Given the description of an element on the screen output the (x, y) to click on. 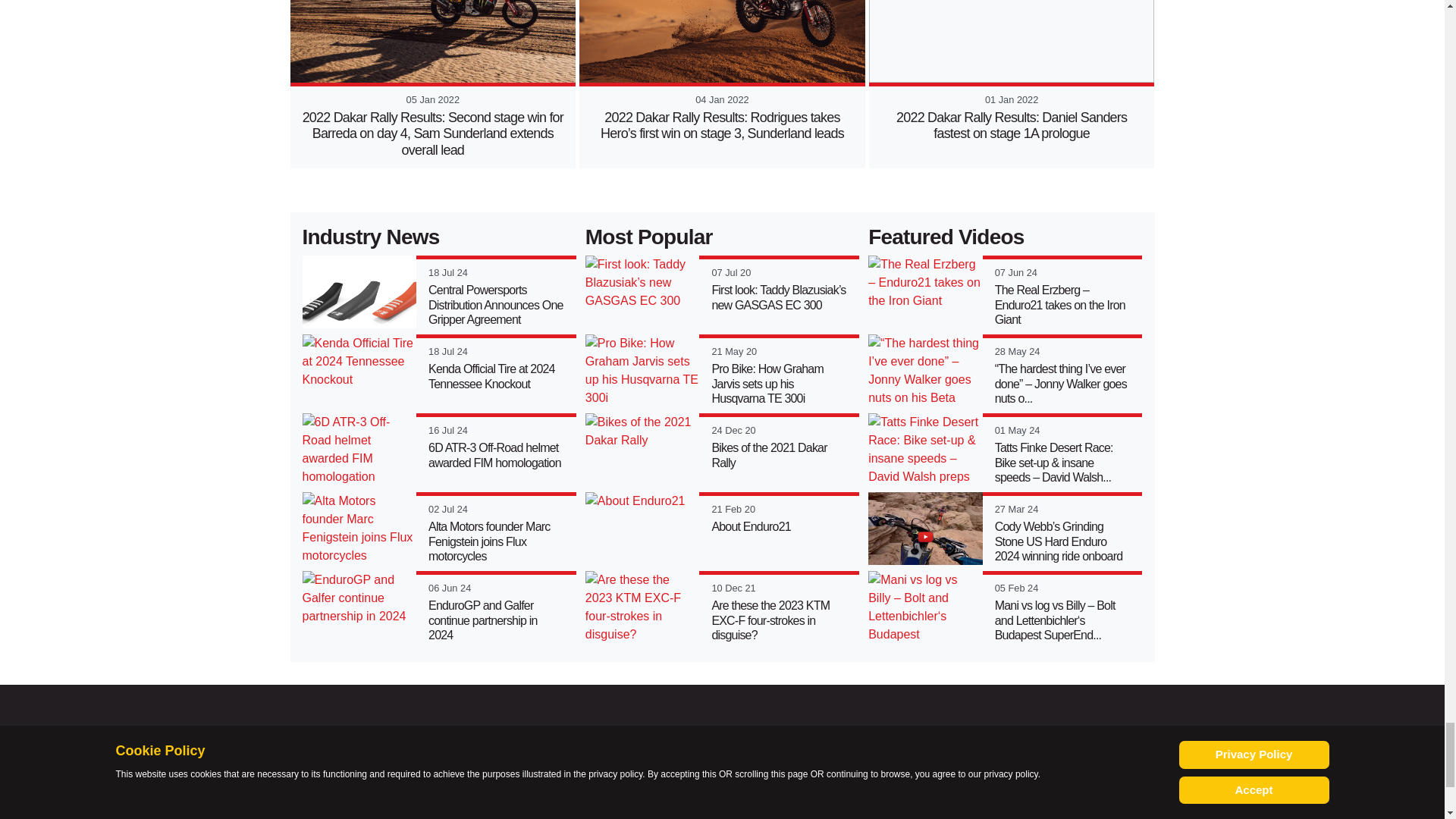
Follow us on Facebook (610, 807)
Follow us on Youtube (717, 807)
Follow us on Instagram (769, 807)
Follow us on Twitter (664, 807)
